Given the description of an element on the screen output the (x, y) to click on. 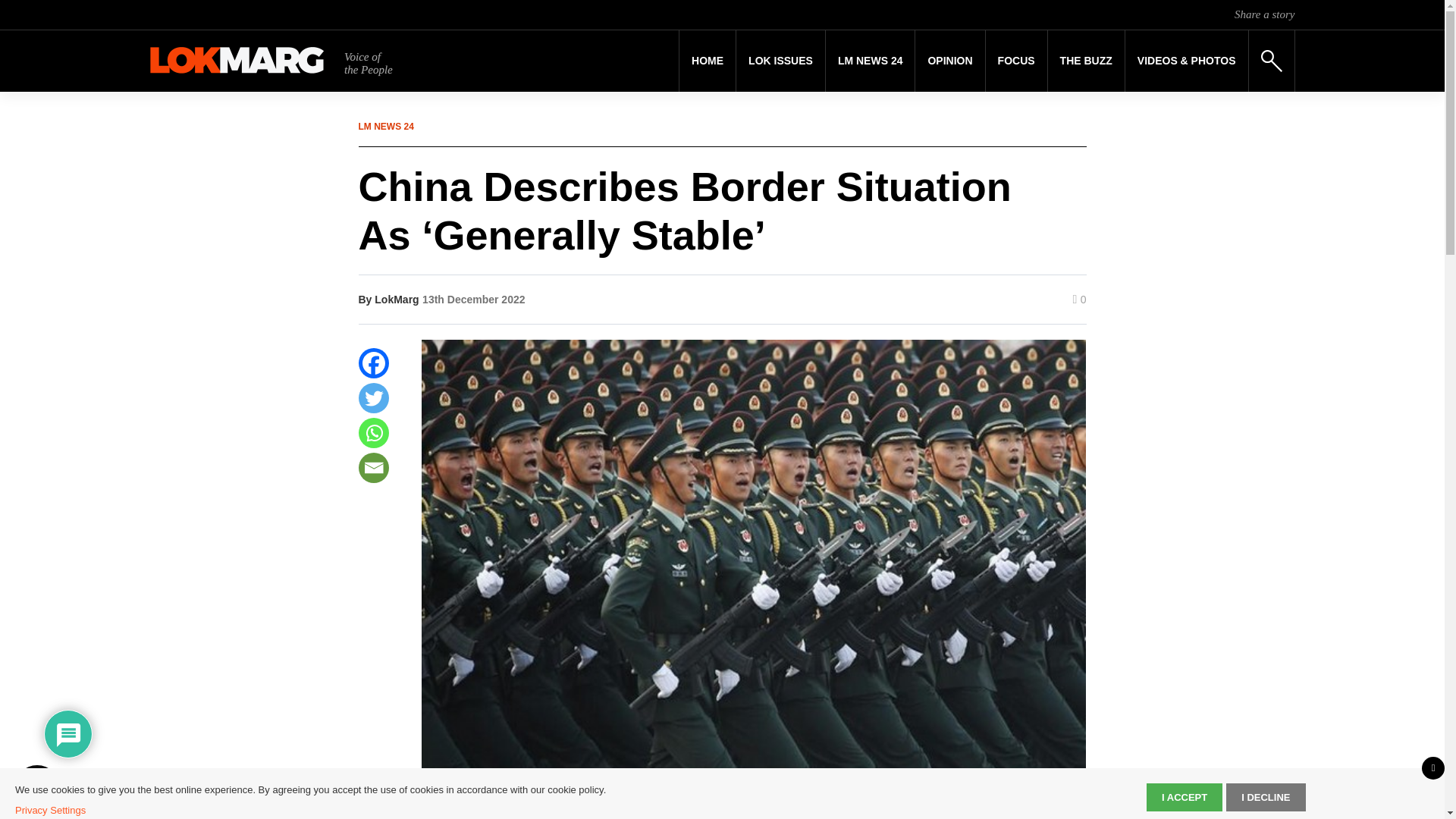
Focus (1015, 60)
Home (707, 60)
THE BUZZ (1086, 60)
Share a story (1264, 14)
Opinion (949, 60)
FOCUS (1015, 60)
LokMarg (396, 299)
Twitter (373, 398)
OPINION (949, 60)
Whatsapp (373, 432)
Facebook (373, 363)
LM NEWS 24 (870, 60)
Lok Issues (780, 60)
HOME (707, 60)
LOK ISSUES (780, 60)
